Given the description of an element on the screen output the (x, y) to click on. 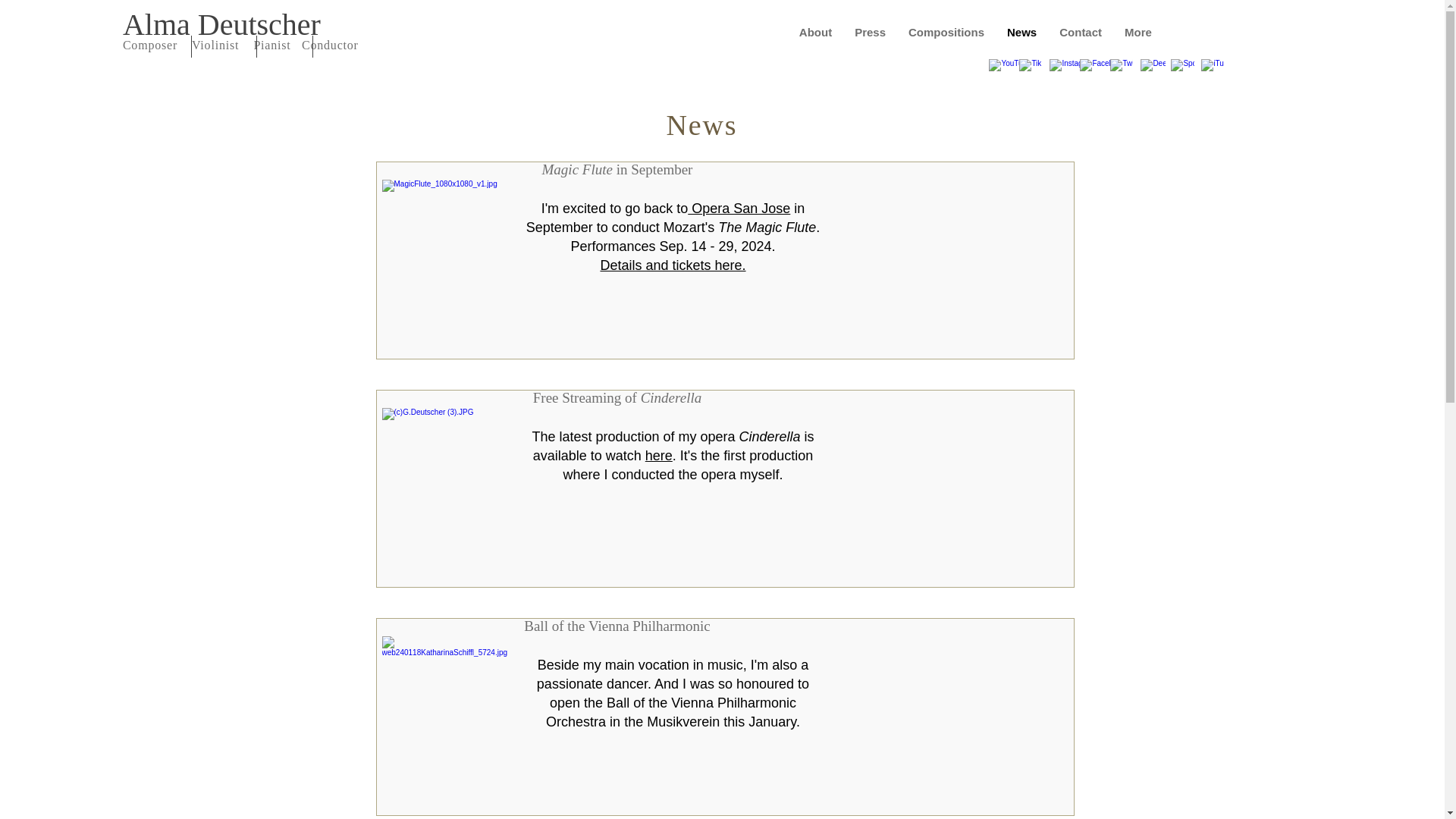
Compositions (945, 34)
Press (869, 34)
Opera San Jose (738, 208)
News (1021, 34)
Details and tickets here. (672, 264)
here (658, 455)
Alma Deutscher (221, 24)
About (815, 34)
Contact (1080, 34)
